Given the description of an element on the screen output the (x, y) to click on. 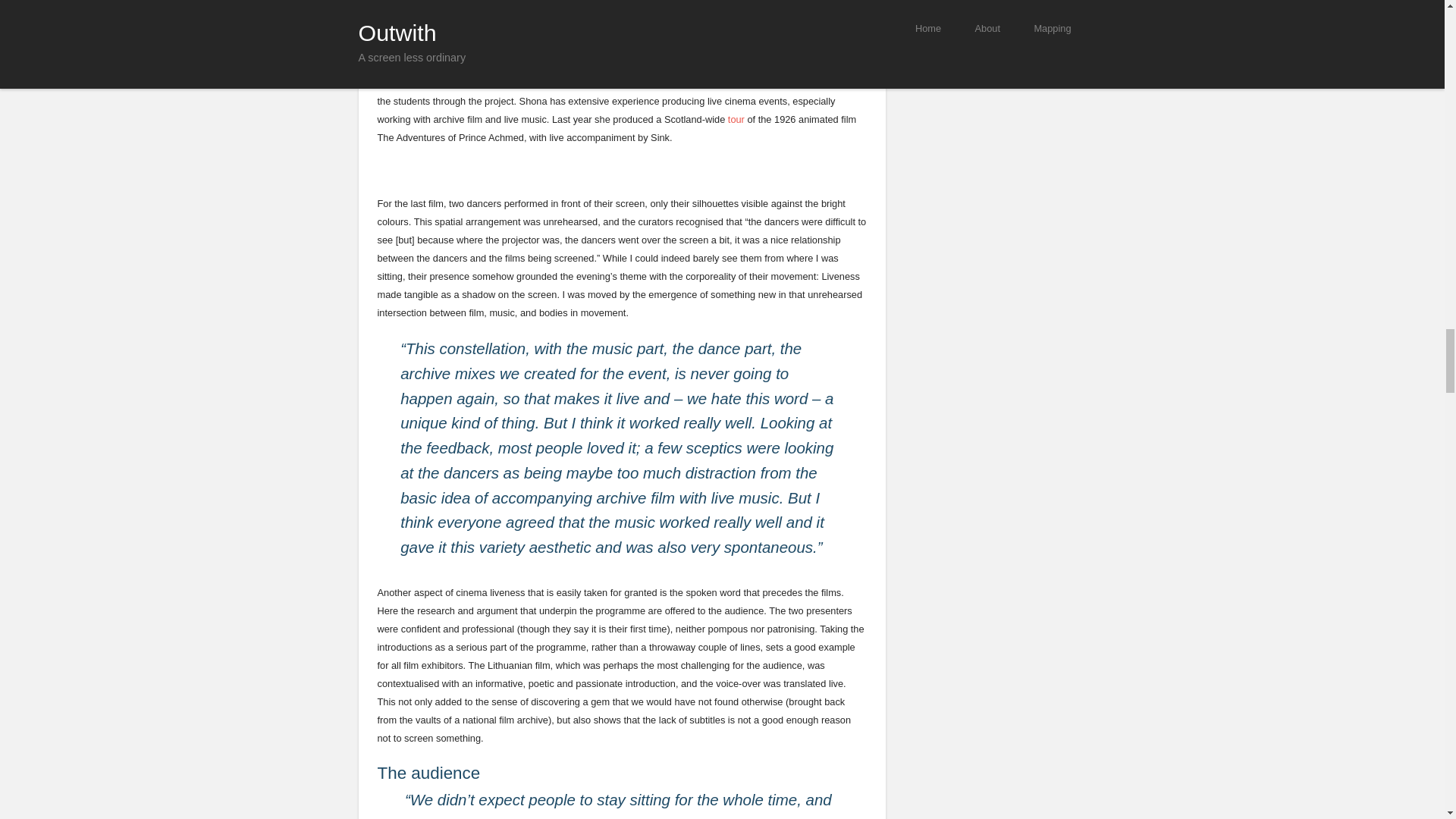
Sink (735, 9)
Shona Thomson (724, 73)
tour (736, 119)
